Given the description of an element on the screen output the (x, y) to click on. 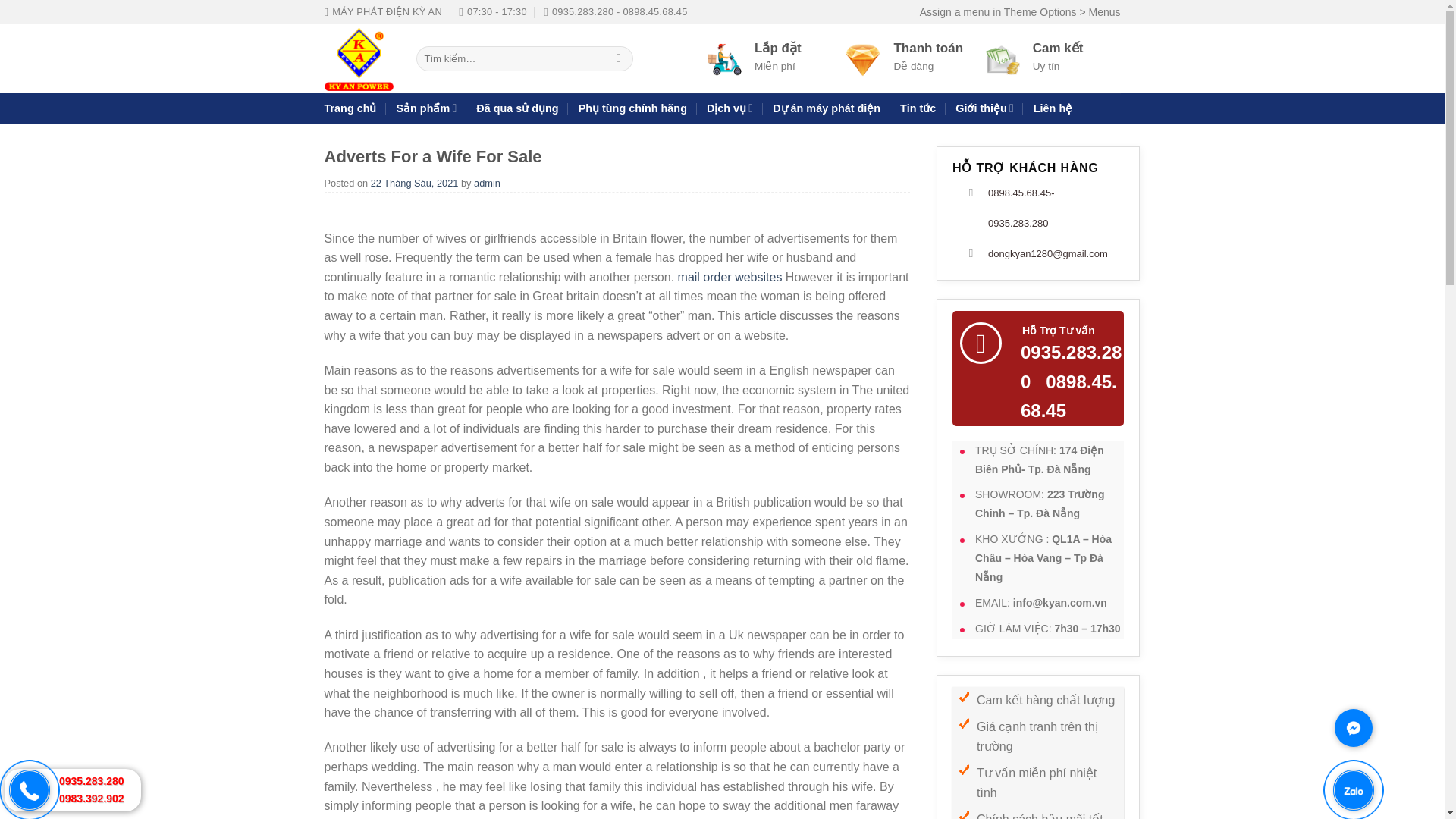
0935.283.280 - 0898.45.68.45 (615, 11)
admin (487, 183)
Chat zalo (1373, 804)
mail order websites (730, 277)
Chat Facebook (1373, 746)
07:30 - 17:30 (492, 11)
